Given the description of an element on the screen output the (x, y) to click on. 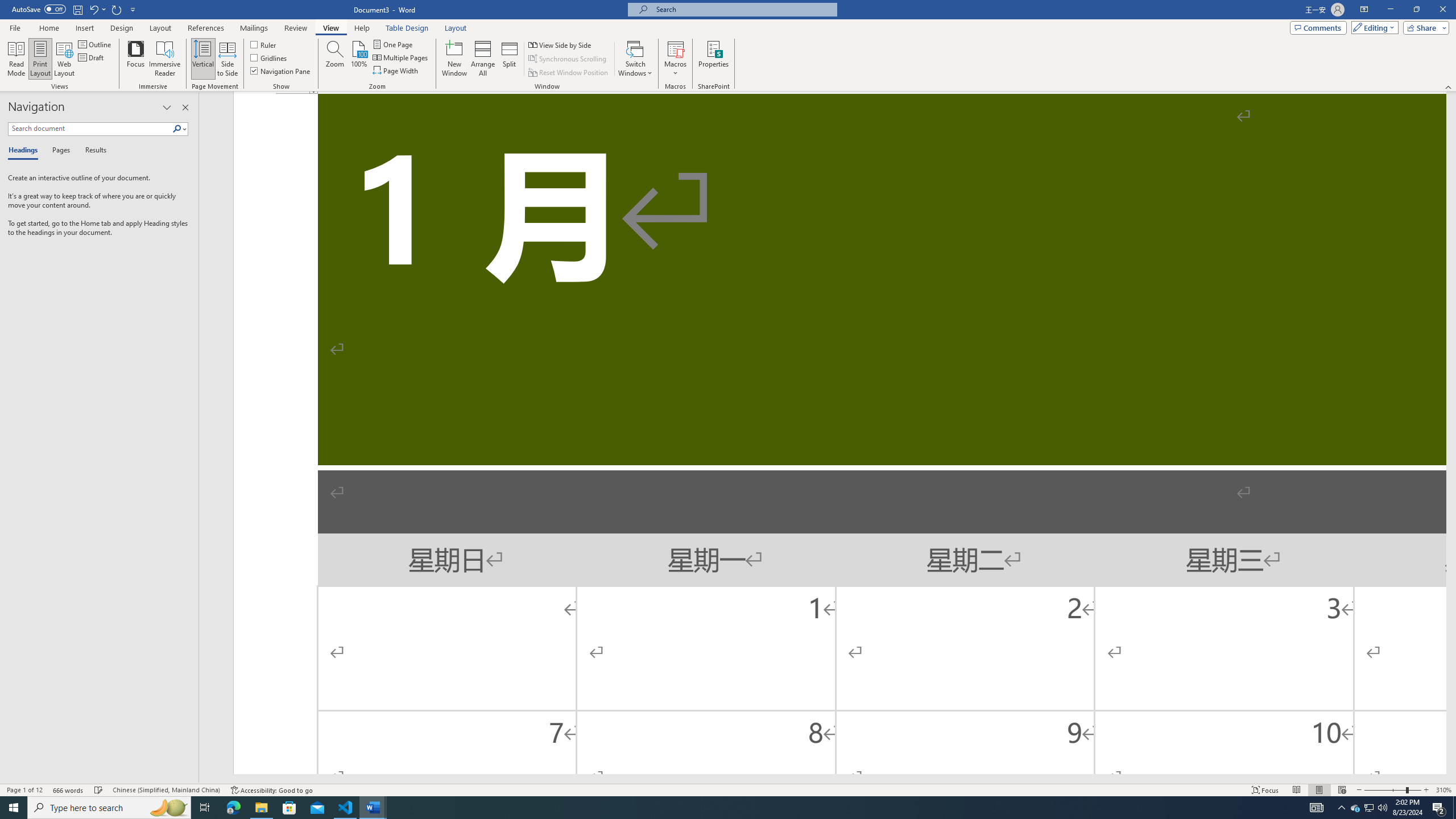
Gridlines (269, 56)
Search document (89, 128)
Task Pane Options (167, 107)
Zoom In (1426, 790)
File Tab (15, 27)
View Macros (675, 48)
Minimize (1390, 9)
Zoom (1392, 790)
Properties (713, 58)
Page Number Page 1 of 12 (24, 790)
Accessibility Checker Accessibility: Good to go (271, 790)
Focus  (1265, 790)
Mailings (253, 28)
One Page (393, 44)
